Given the description of an element on the screen output the (x, y) to click on. 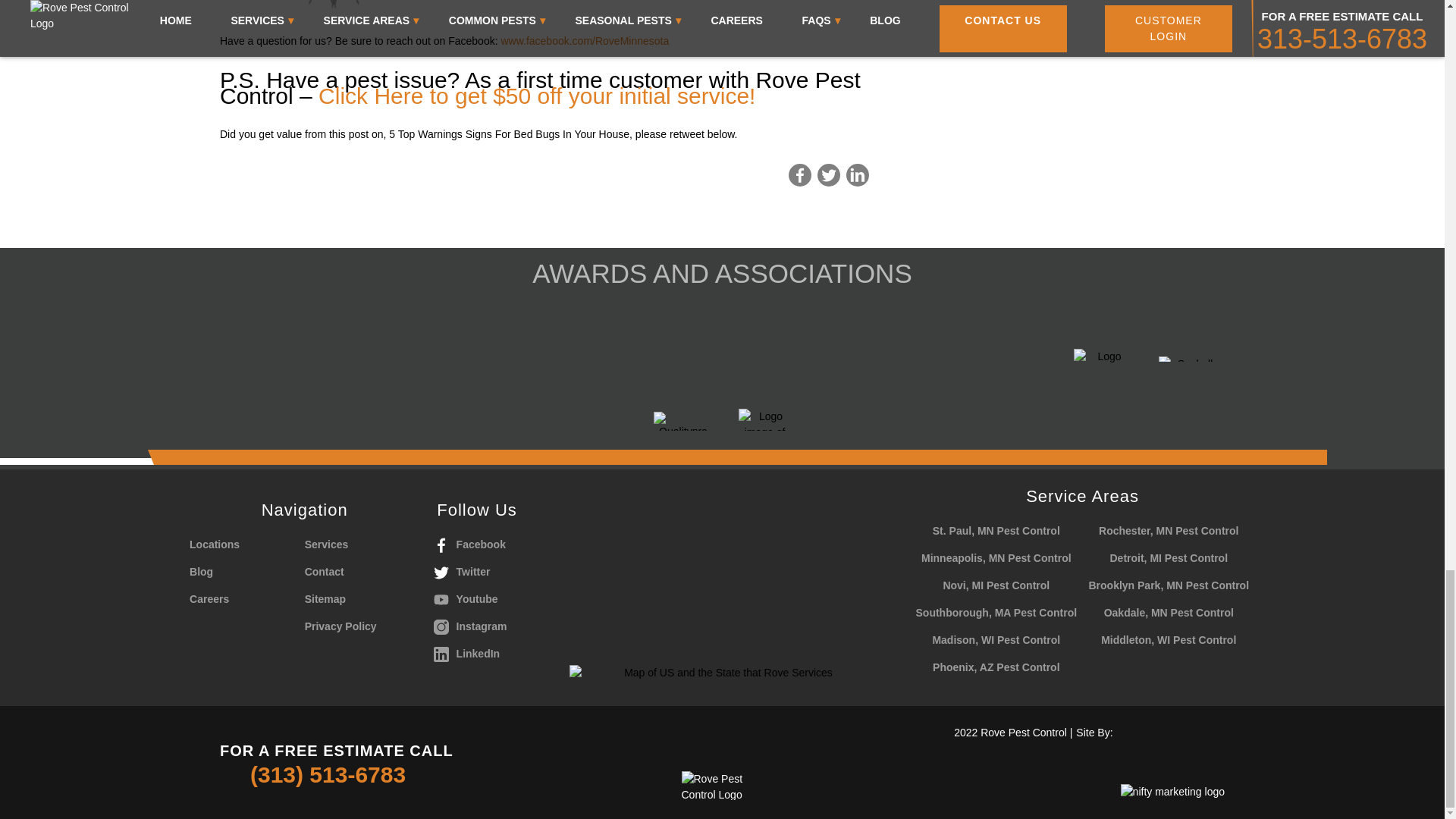
Share on Twitter (828, 174)
Share on LinkedIn (857, 174)
Share on Facebook (799, 174)
